Given the description of an element on the screen output the (x, y) to click on. 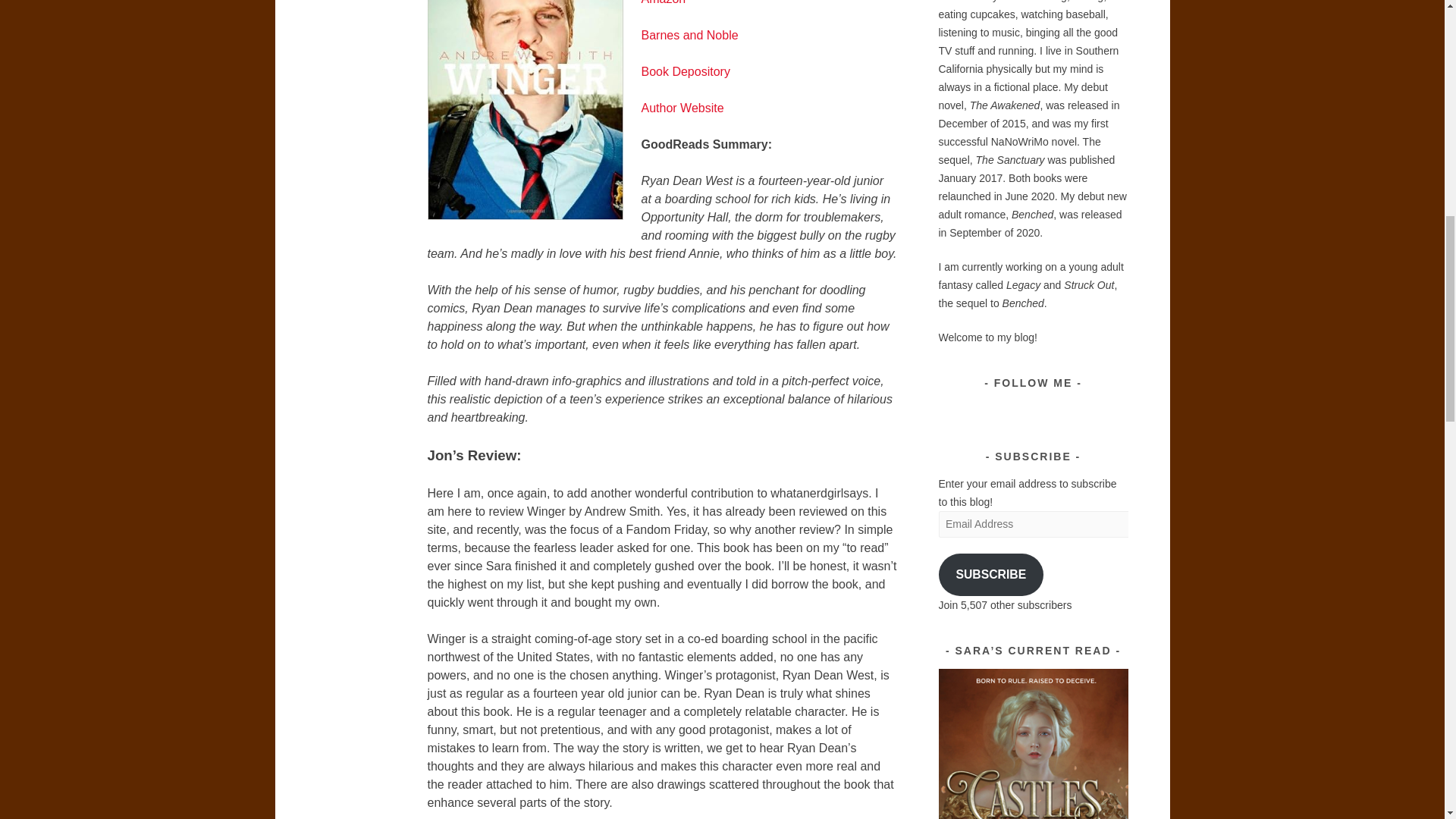
Barnes and Noble (690, 34)
Book Depository (686, 71)
Author Website (682, 107)
Amazon (663, 2)
